Given the description of an element on the screen output the (x, y) to click on. 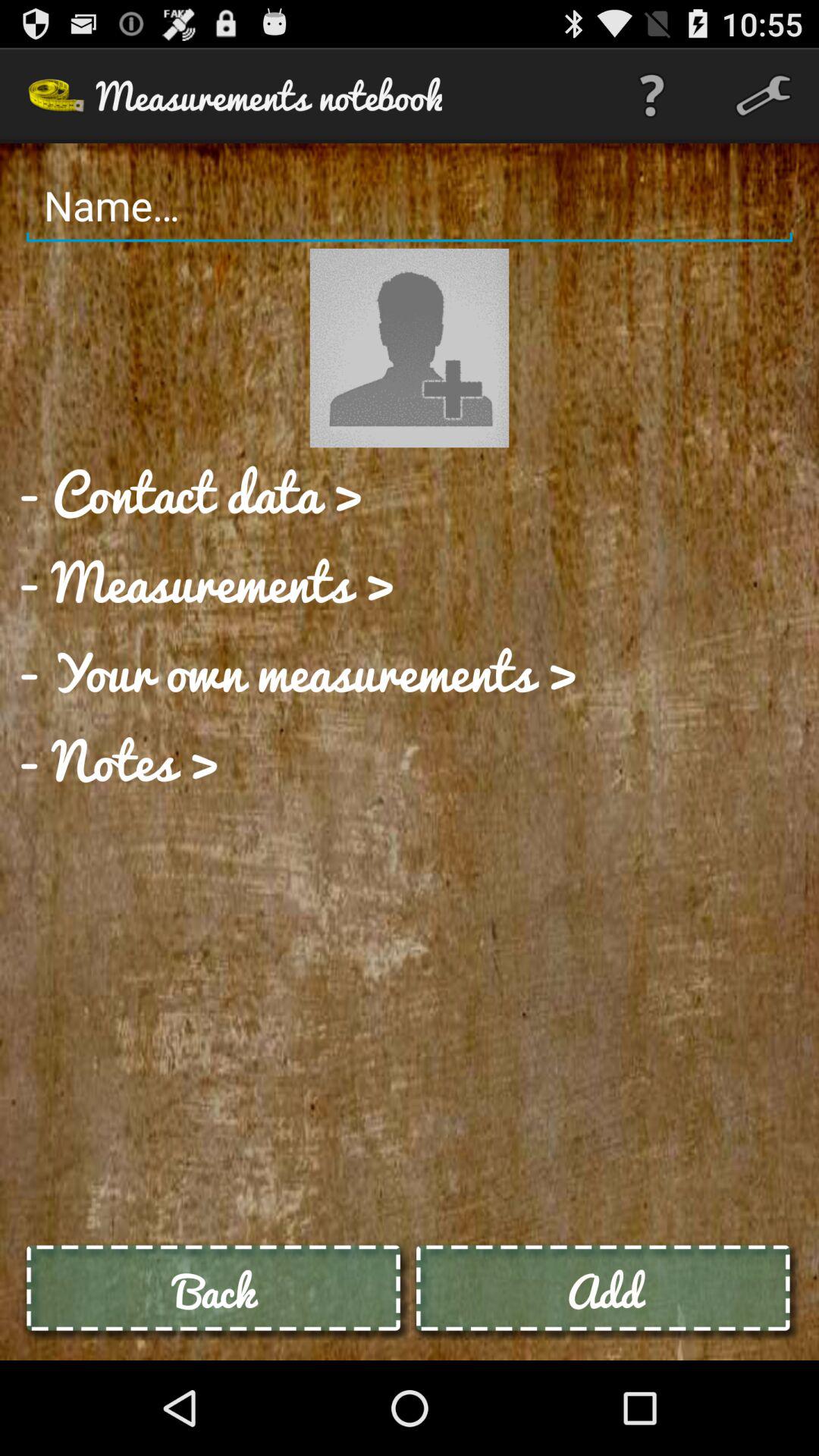
choose app below - measurements > icon (297, 670)
